Given the description of an element on the screen output the (x, y) to click on. 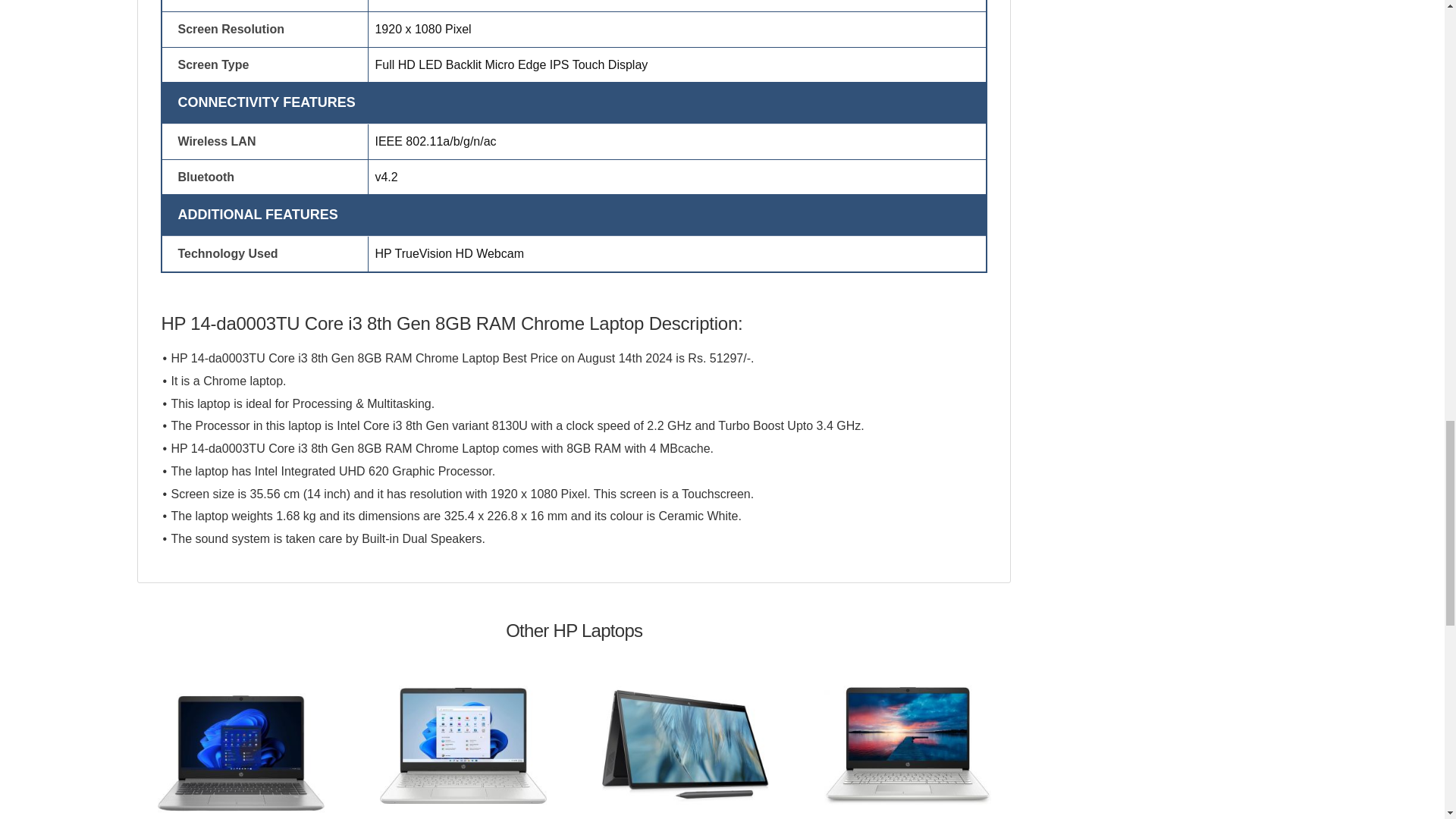
HP 13-AY1065AU Ryzen 5 Hexa Core  Thin and Light Laptop (463, 744)
HP 769K8PA Core i5 12th Gen  Laptop (240, 748)
